Given the description of an element on the screen output the (x, y) to click on. 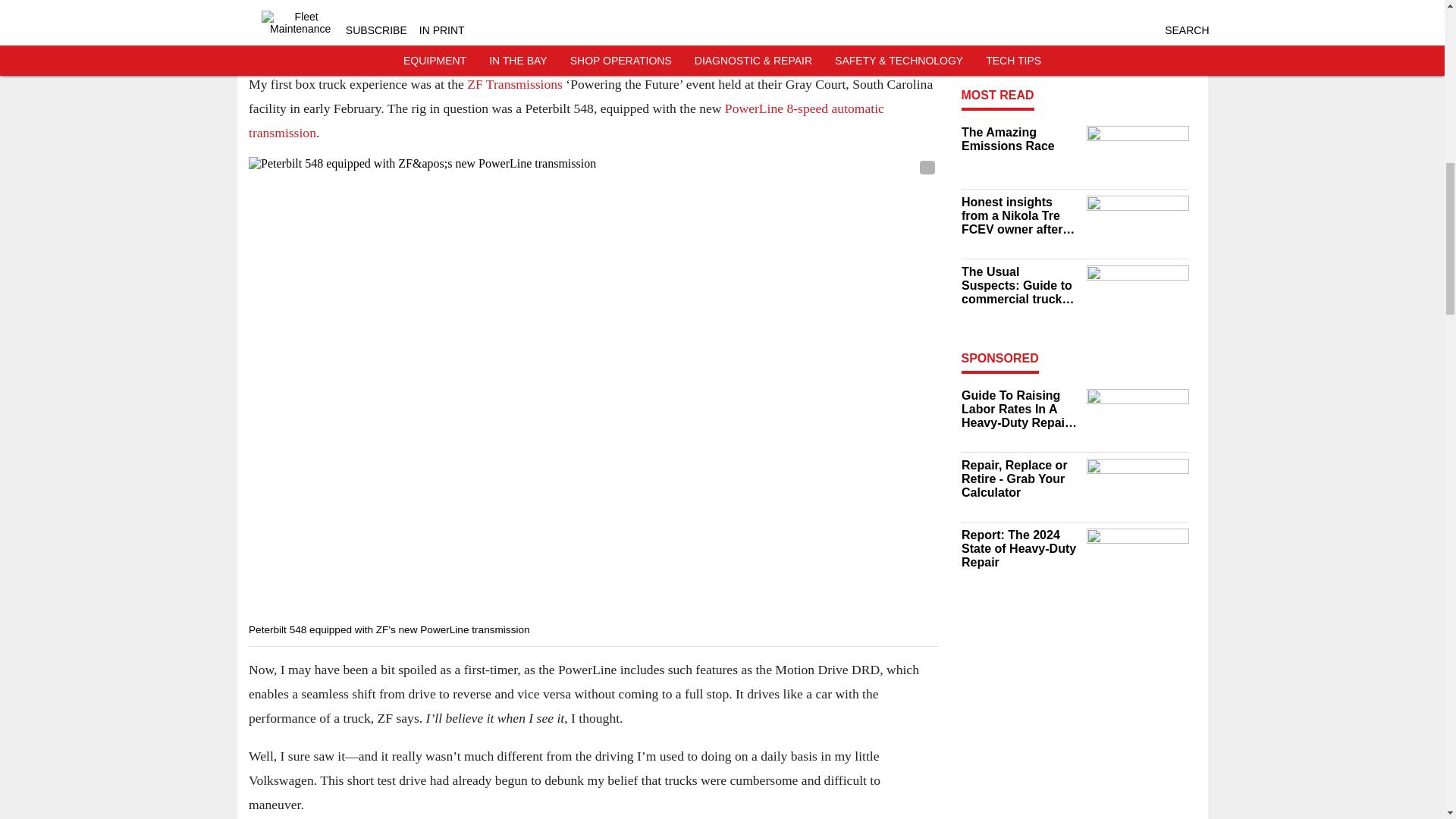
PowerLine 8-speed automatic transmission (565, 120)
ZF Transmissions (514, 84)
